Given the description of an element on the screen output the (x, y) to click on. 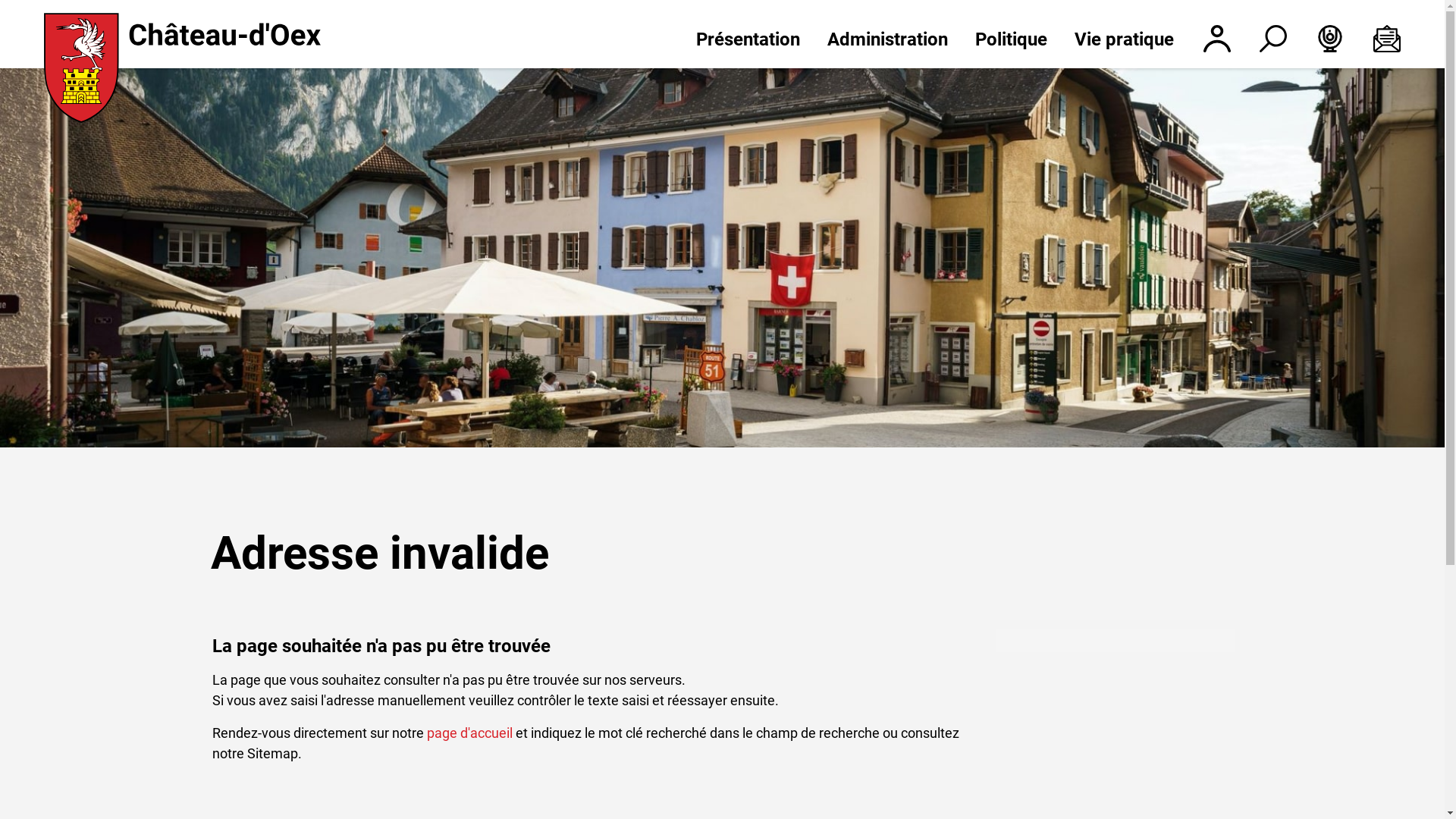
Vie pratique Element type: text (1116, 37)
Connexion Element type: text (1206, 38)
Politique Element type: text (1010, 37)
Contact Element type: text (1376, 38)
Webcam Element type: text (1319, 38)
page d'accueil Element type: text (468, 732)
Administration Element type: text (886, 37)
Rechercher Element type: text (1263, 38)
